Given the description of an element on the screen output the (x, y) to click on. 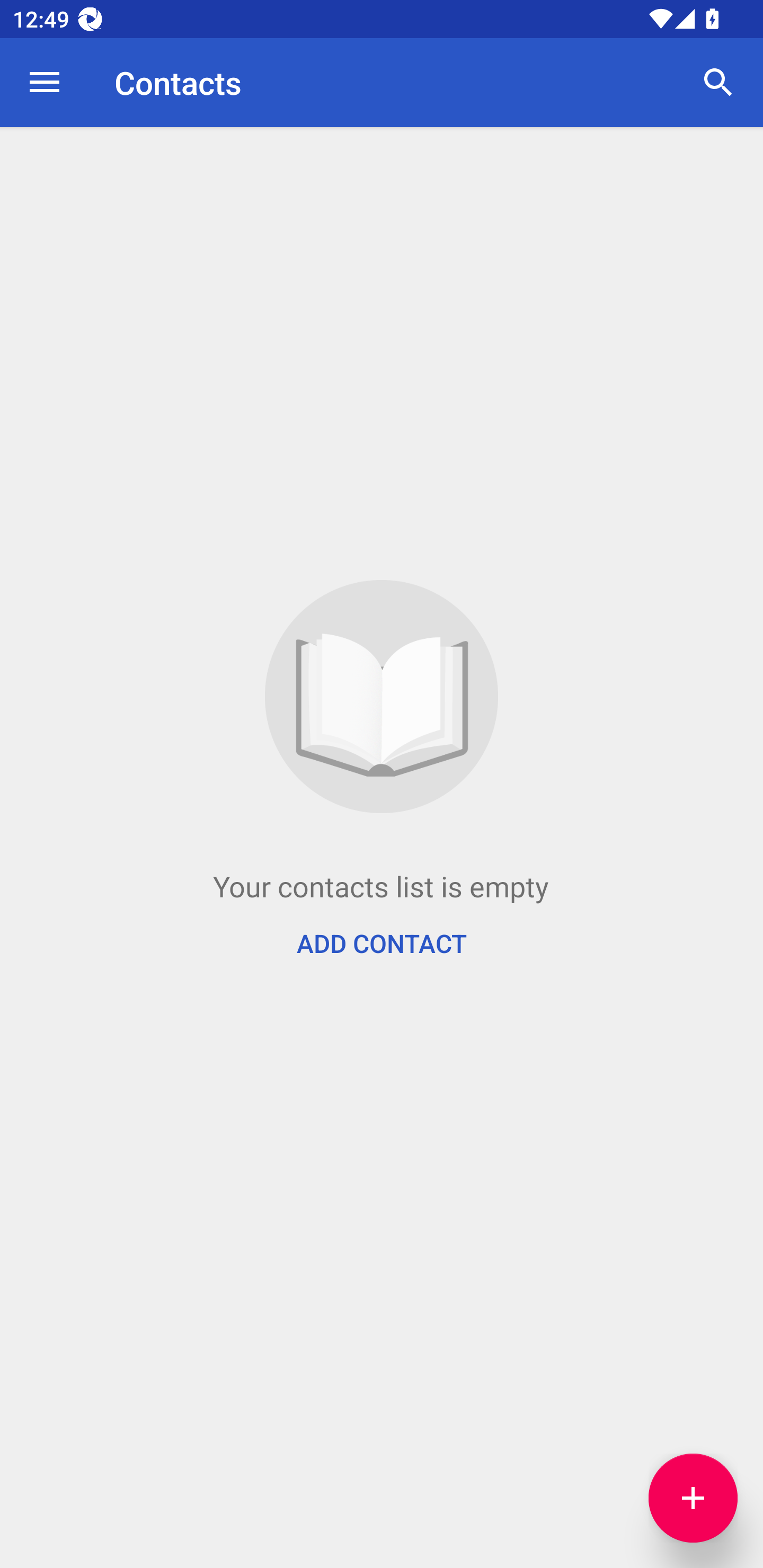
Open navigation drawer (44, 82)
Search contacts (718, 81)
ADD CONTACT (381, 942)
Create new contact (692, 1497)
